Given the description of an element on the screen output the (x, y) to click on. 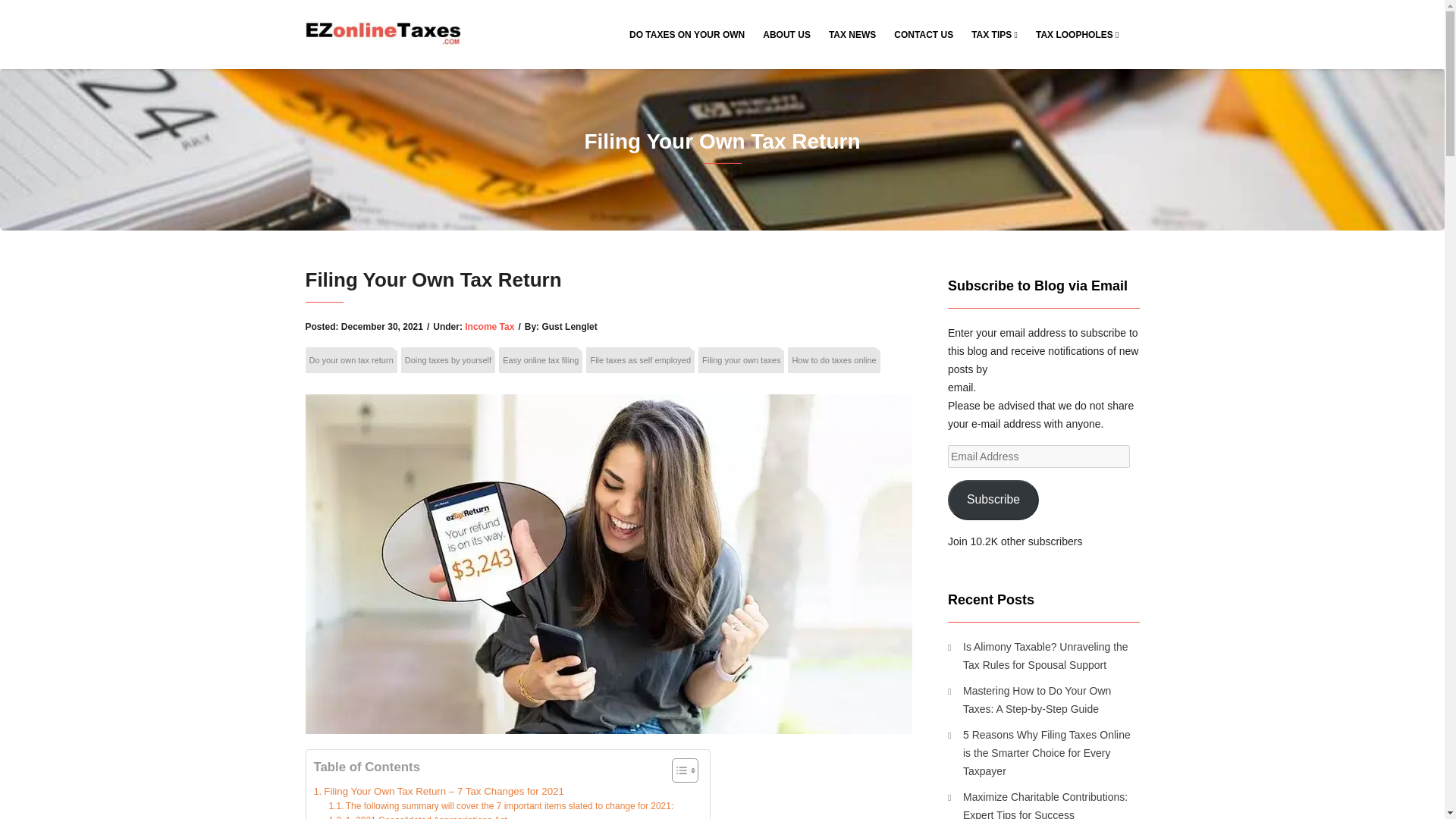
DO TAXES ON YOUR OWN (687, 34)
File taxes as self employed (640, 360)
CONTACT US (923, 34)
1. 2021 Consolidated Appropriations Act (417, 816)
Filing your own taxes (741, 360)
ABOUT US (786, 34)
Easy online tax filing (540, 360)
TAX NEWS (852, 34)
